Given the description of an element on the screen output the (x, y) to click on. 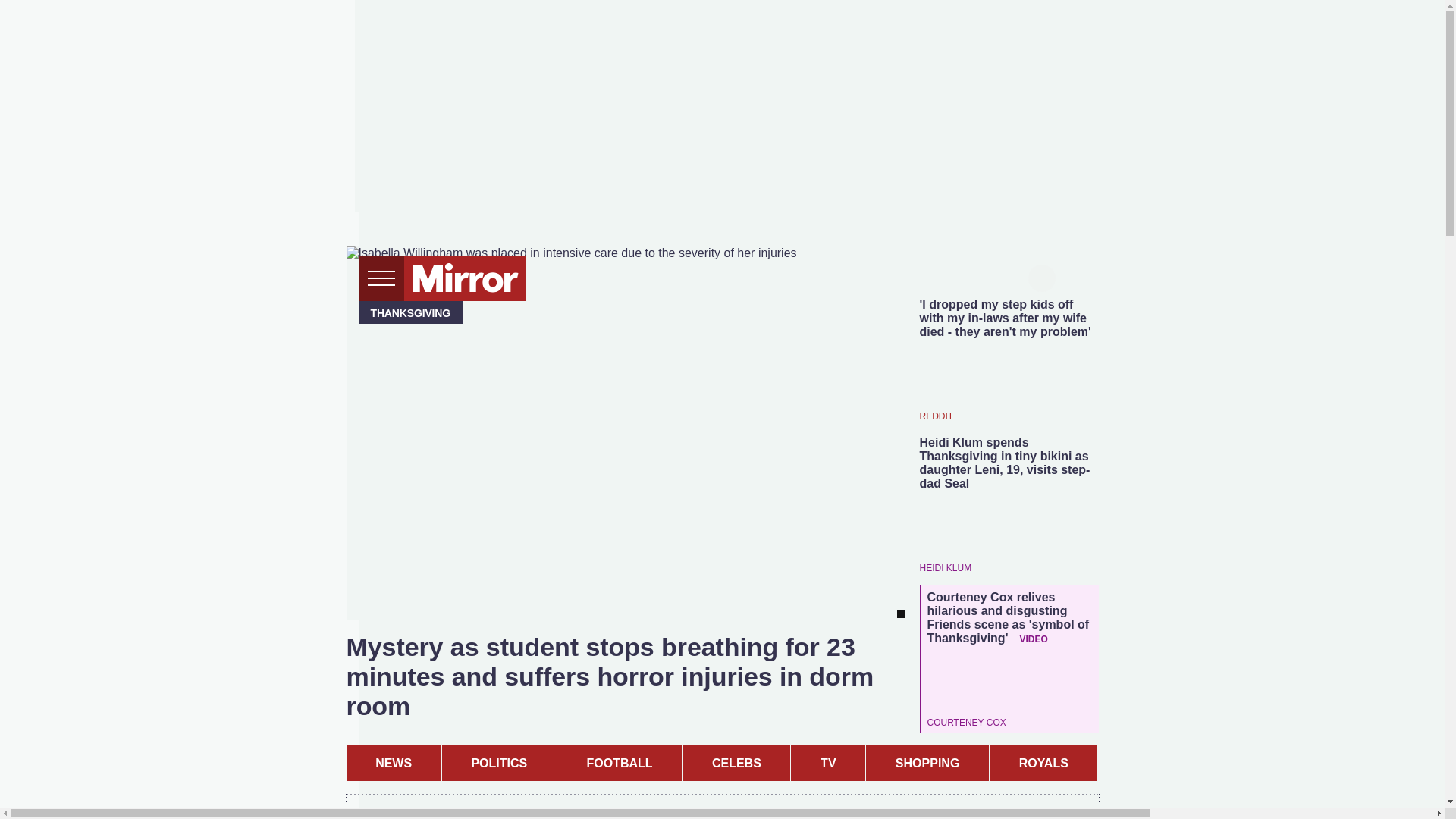
REDDIT (935, 415)
ROYALS (1043, 763)
instagram (984, 276)
tiktok (955, 276)
FOOTBALL (619, 763)
SHOPPING (927, 763)
COURTENEY COX (966, 722)
twitter (926, 276)
